Given the description of an element on the screen output the (x, y) to click on. 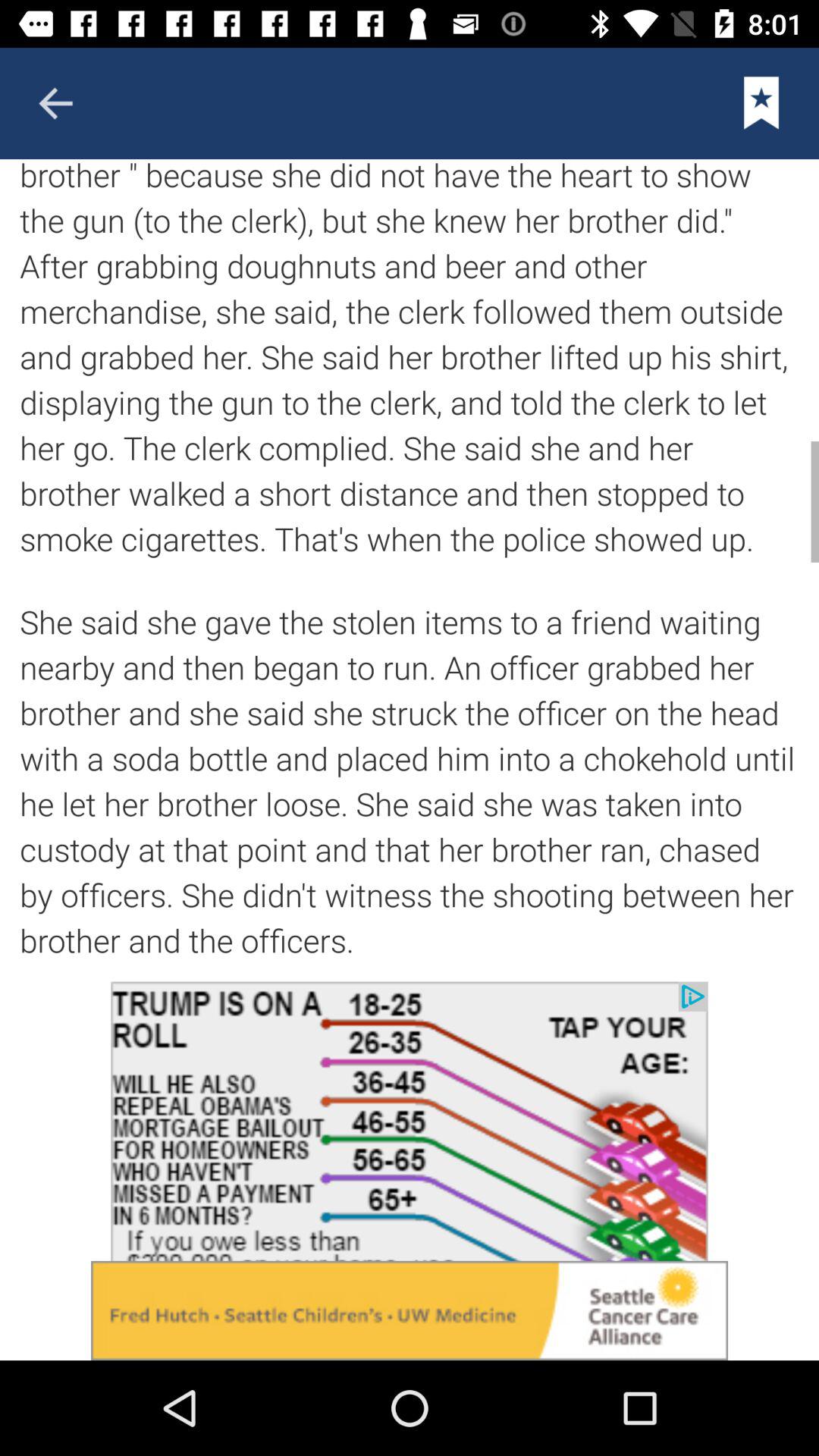
it is go to previous page element (55, 103)
